Given the description of an element on the screen output the (x, y) to click on. 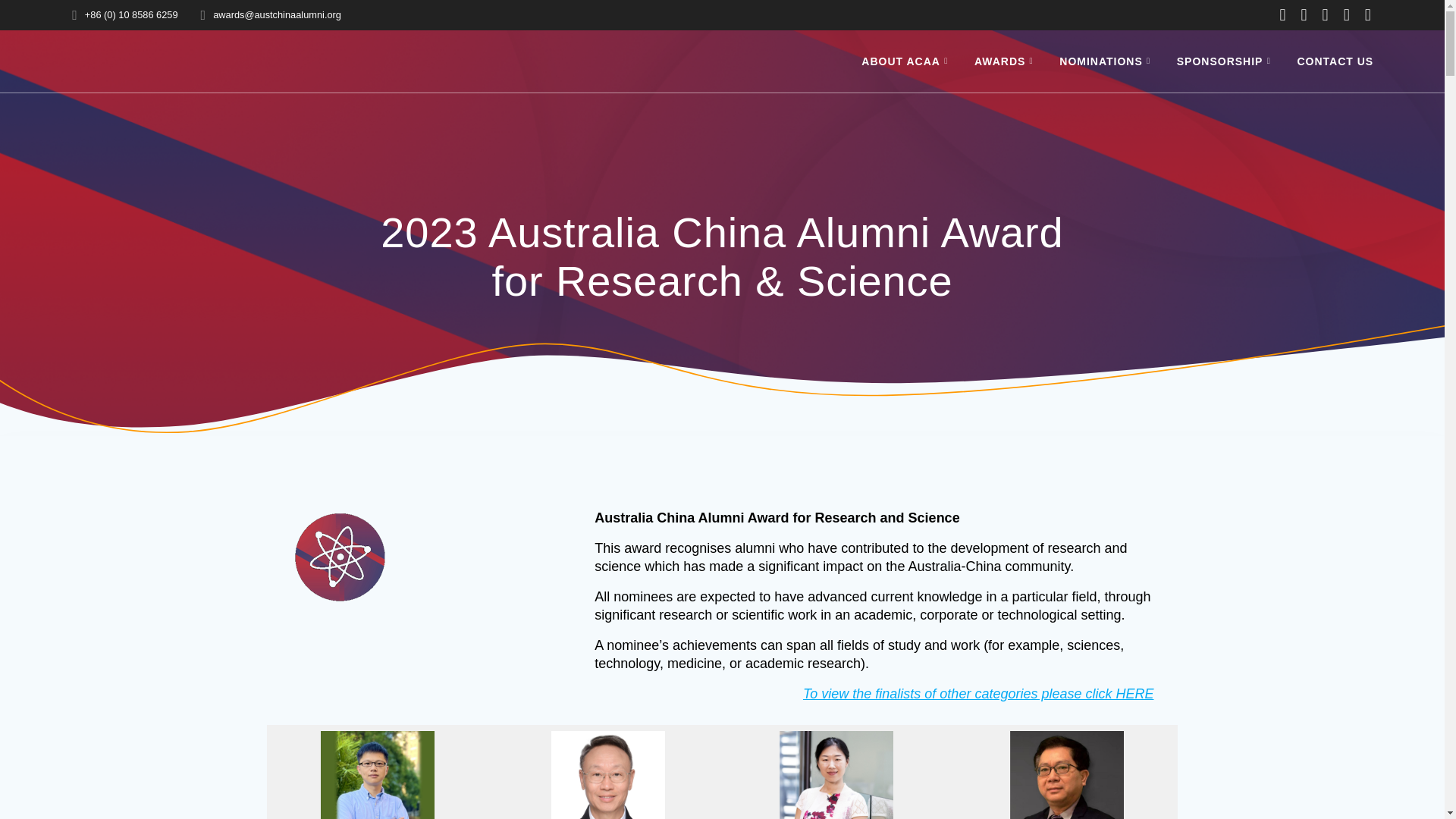
AWARDS (1006, 61)
SPONSORSHIP (1226, 61)
NOMINATIONS (1107, 61)
To view the finalists of other categories please click HERE (978, 693)
ABOUT ACAA (907, 61)
CONTACT US (1335, 61)
